Given the description of an element on the screen output the (x, y) to click on. 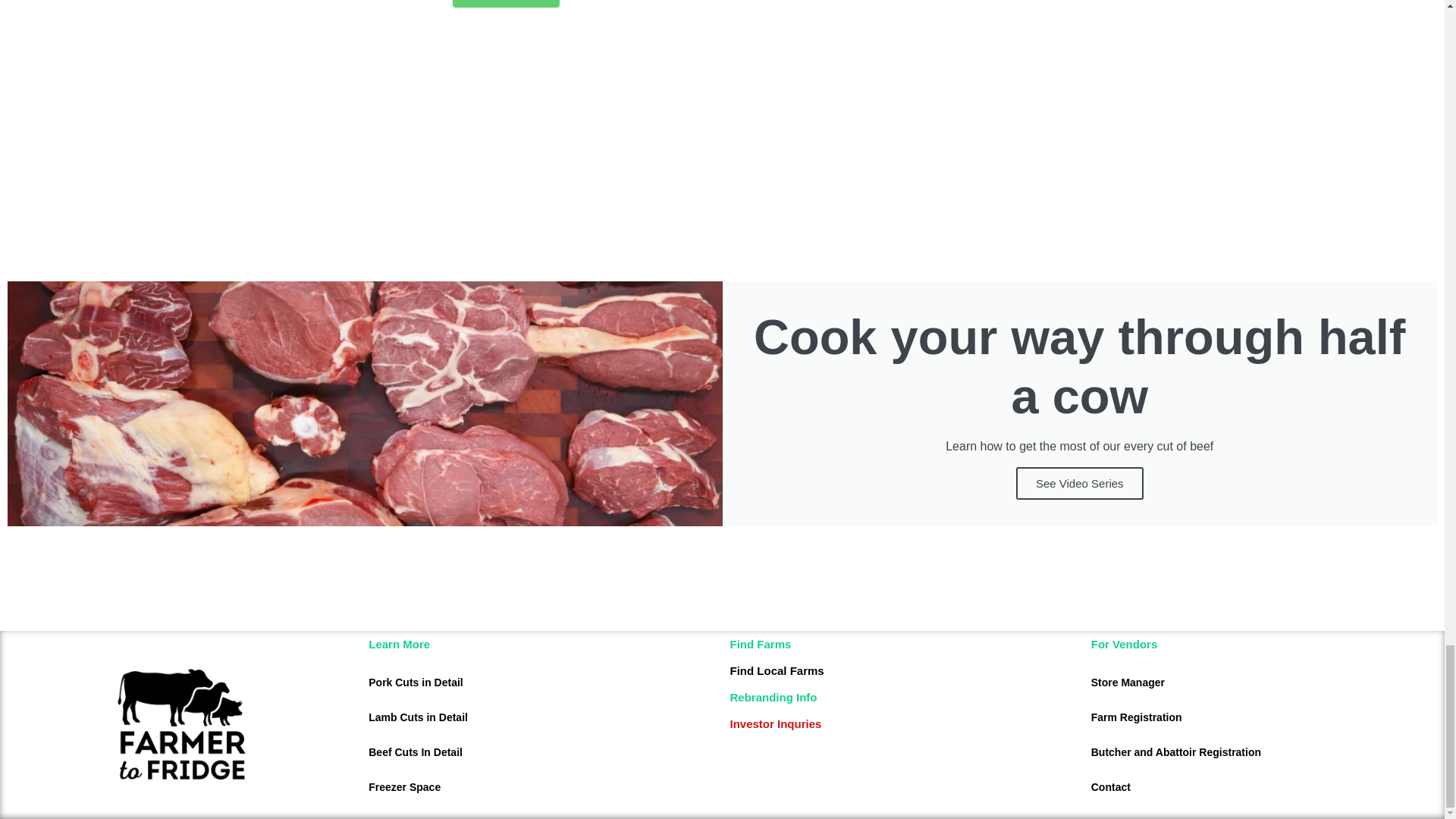
Lamb Cuts in Detail (541, 717)
Freezer Space (541, 786)
Pork Cuts in Detail (541, 682)
Beef Cuts In Detail (541, 751)
Learn More (506, 3)
See Video Series (1079, 482)
